Given the description of an element on the screen output the (x, y) to click on. 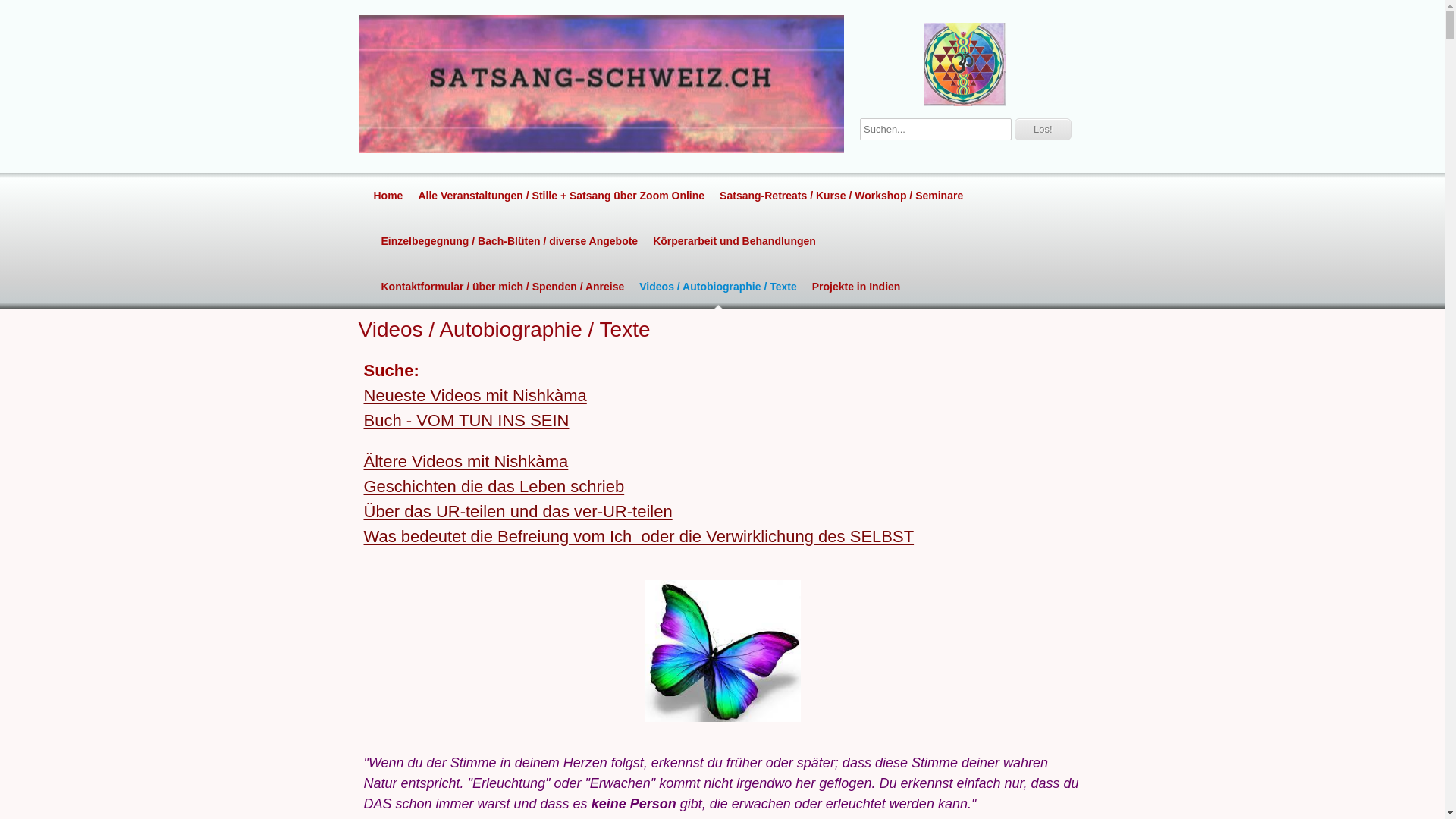
Buch - VOM TUN INS SEIN Element type: text (466, 420)
Los! Element type: text (1042, 129)
Projekte in Indien Element type: text (856, 286)
Videos / Autobiographie / Texte Element type: text (717, 286)
Satsang-Retreats / Kurse / Workshop / Seminare Element type: text (841, 195)
Geschichten die das Leben schrieb Element type: text (494, 485)
Home Element type: text (387, 195)
